Given the description of an element on the screen output the (x, y) to click on. 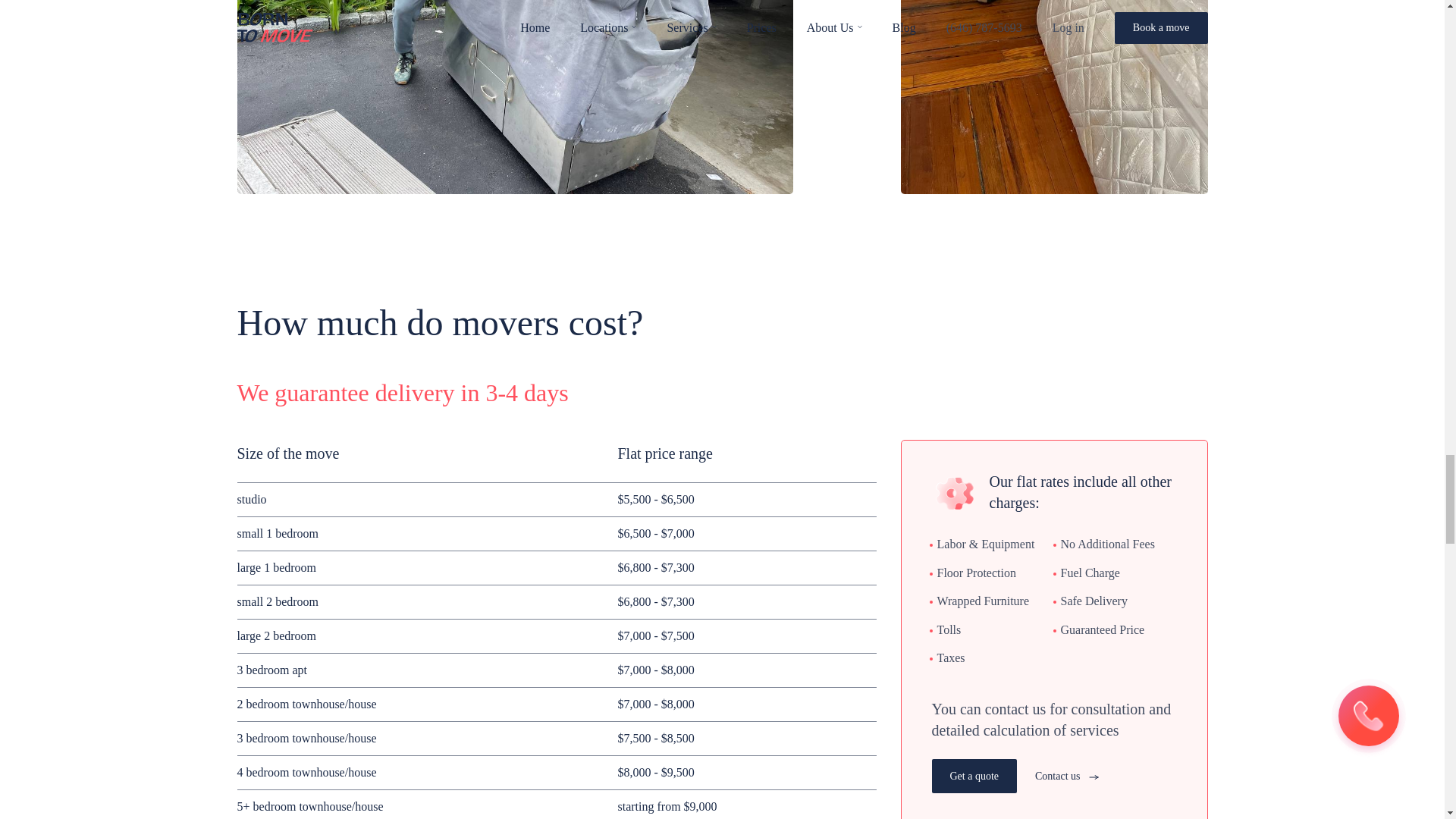
Get a quote (973, 776)
Contact us (1067, 776)
